Given the description of an element on the screen output the (x, y) to click on. 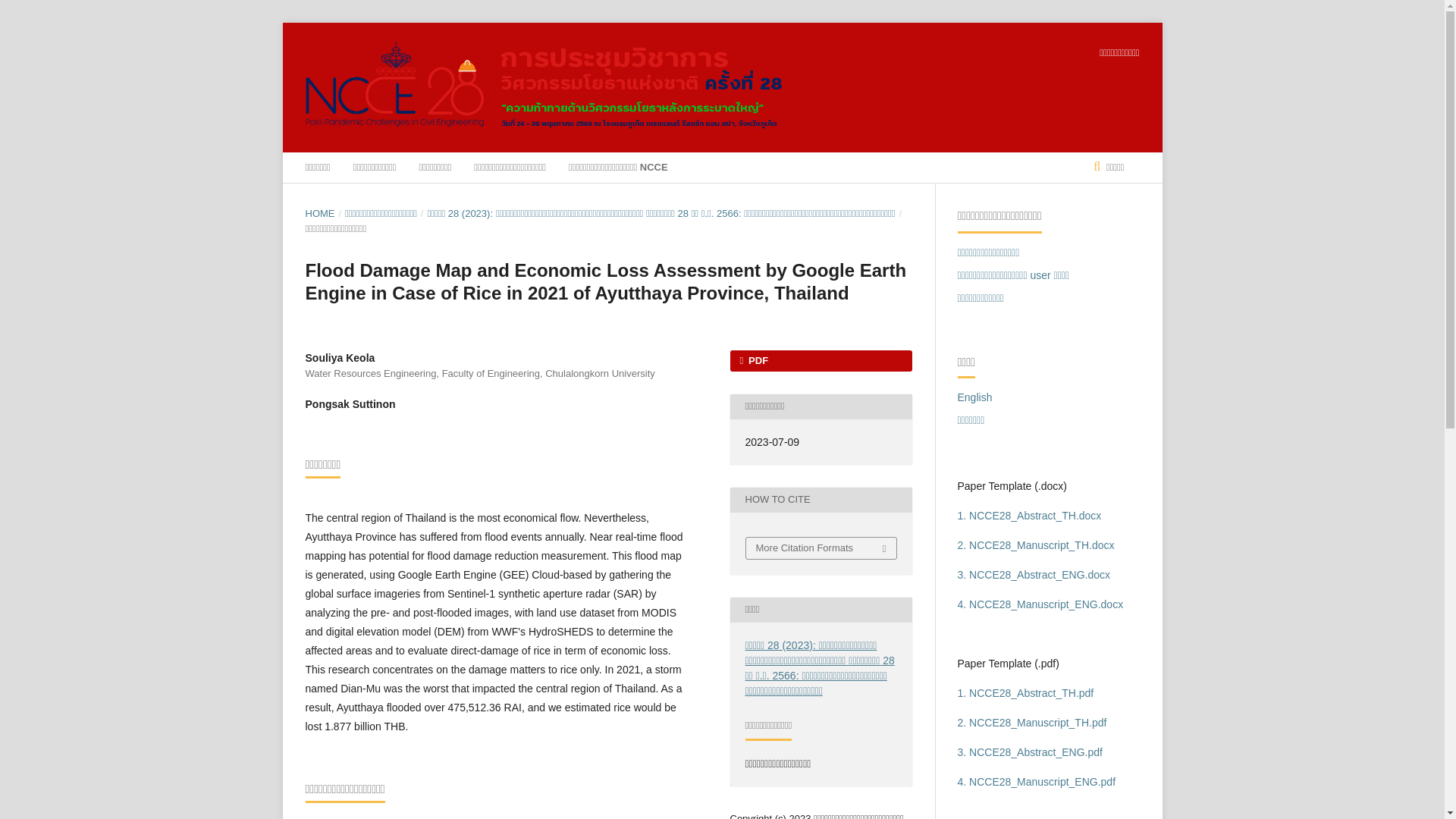
HOME (319, 213)
More Citation Formats (820, 547)
PDF (820, 360)
